Given the description of an element on the screen output the (x, y) to click on. 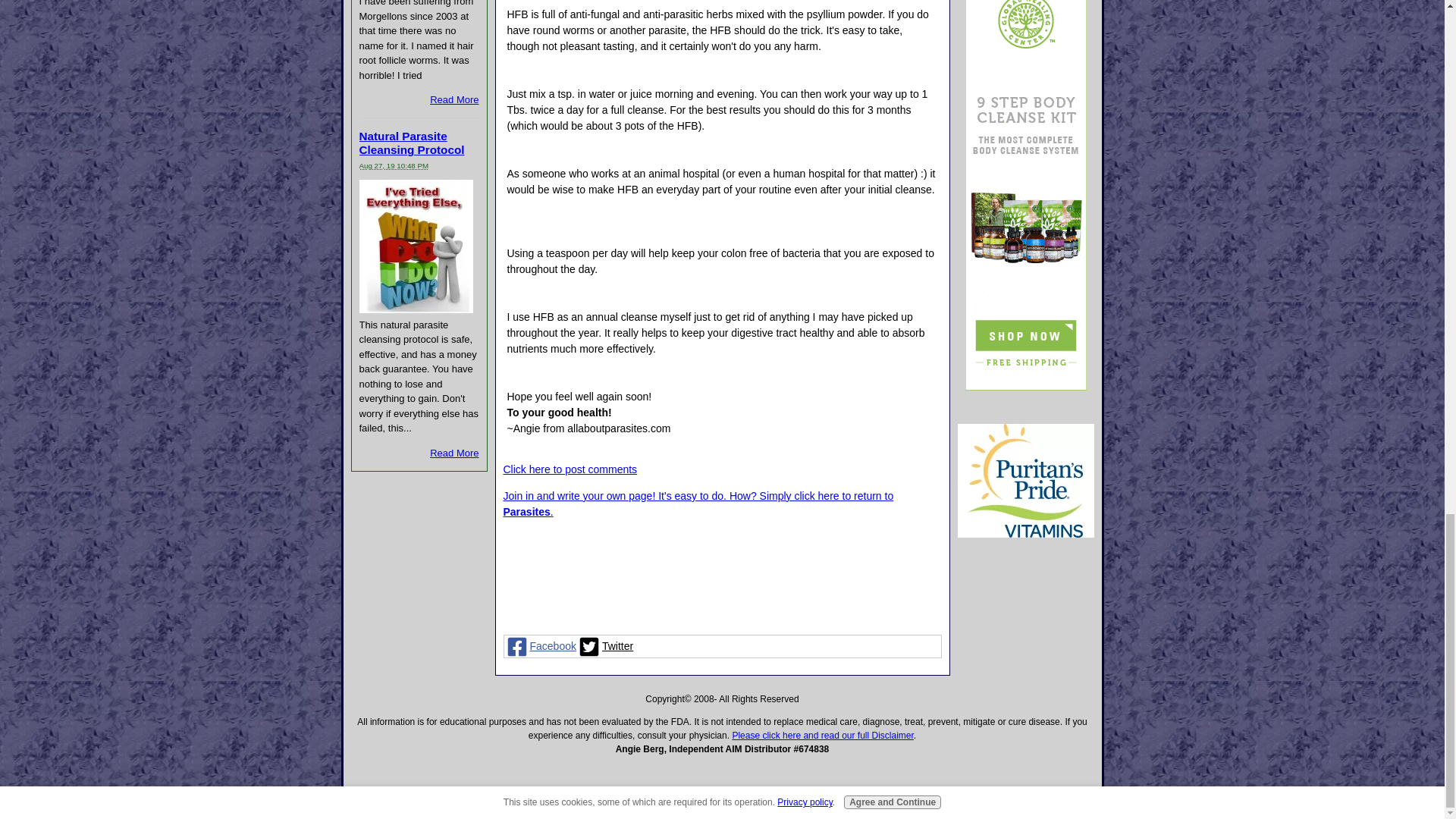
Twitter (604, 646)
Facebook (539, 646)
Click here to post comments (570, 469)
2019-08-27T22:48:39-0400 (394, 165)
